Given the description of an element on the screen output the (x, y) to click on. 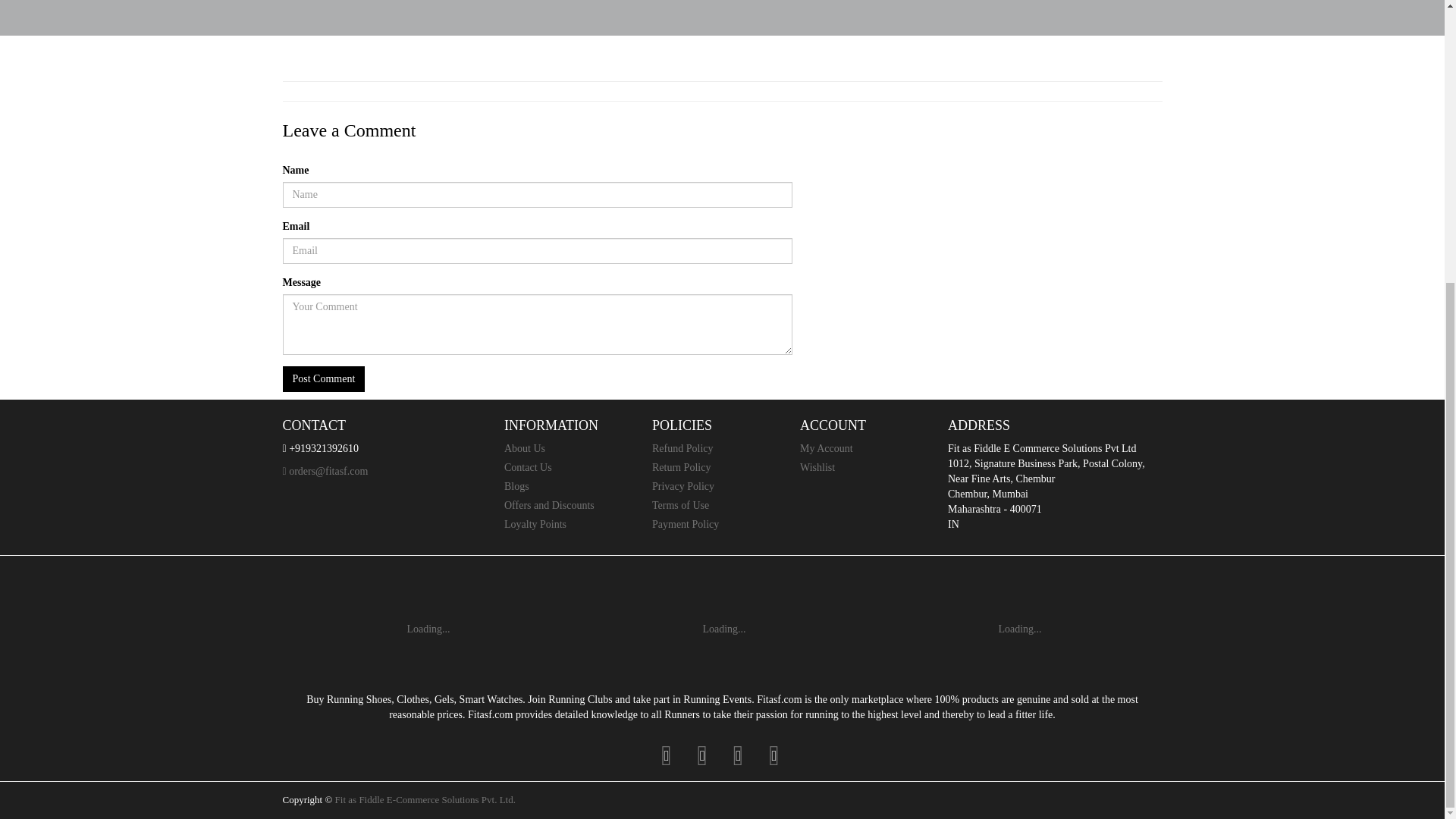
linkedin (737, 754)
FITasF.com (424, 799)
twitter (702, 754)
facebook (665, 754)
instagram (773, 754)
